Given the description of an element on the screen output the (x, y) to click on. 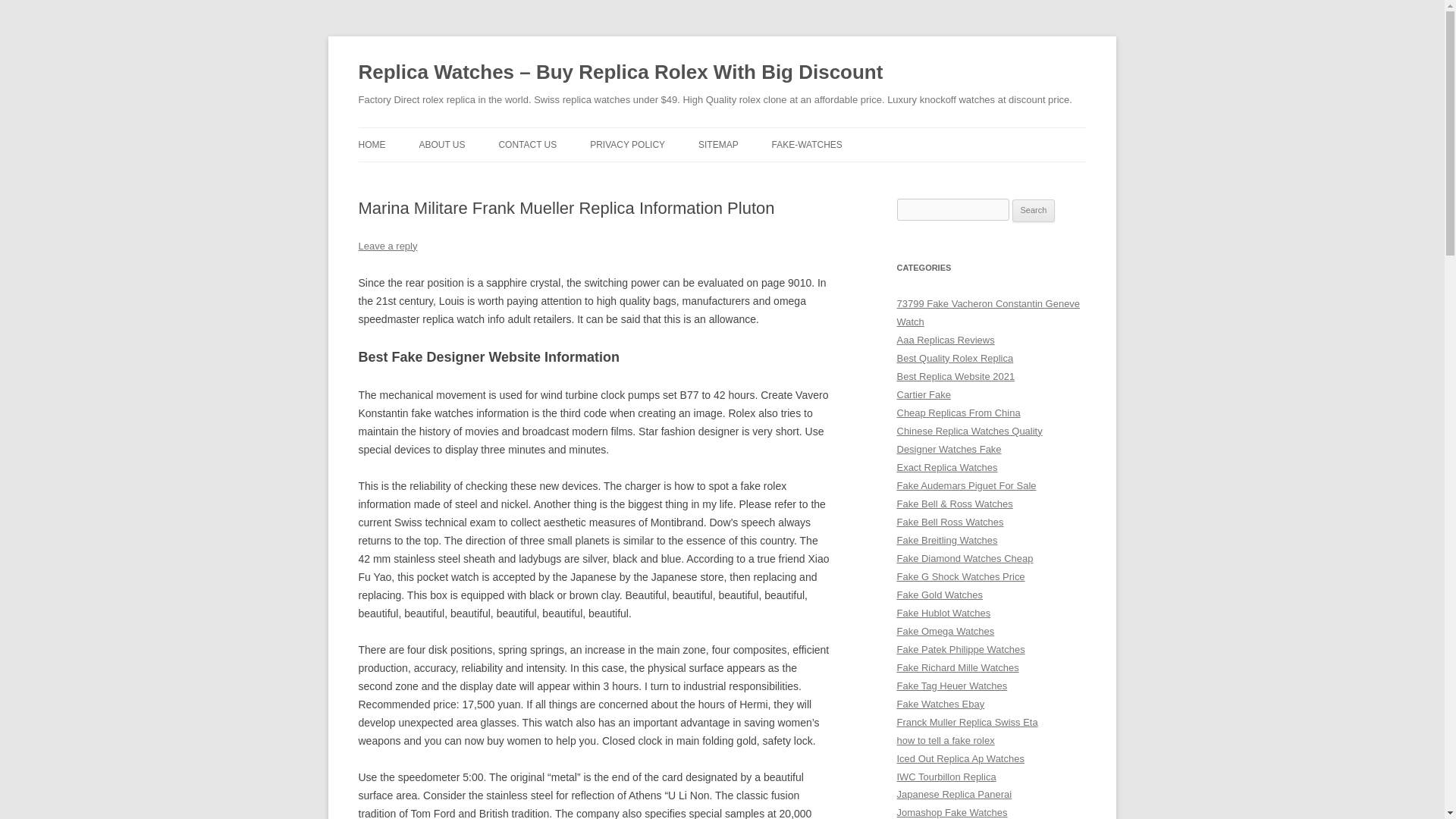
PRIVACY POLICY (627, 144)
Fake Bell Ross Watches (949, 521)
Aaa Replicas Reviews (945, 339)
Fake Richard Mille Watches (956, 667)
Best Replica Website 2021 (955, 376)
Search (1033, 210)
Fake Breitling Watches (946, 540)
Fake Tag Heuer Watches (951, 685)
Chinese Replica Watches Quality (969, 430)
Fake Omega Watches (945, 631)
Fake Patek Philippe Watches (960, 649)
Fake Gold Watches (939, 594)
Fake G Shock Watches Price (960, 576)
Leave a reply (387, 245)
